Given the description of an element on the screen output the (x, y) to click on. 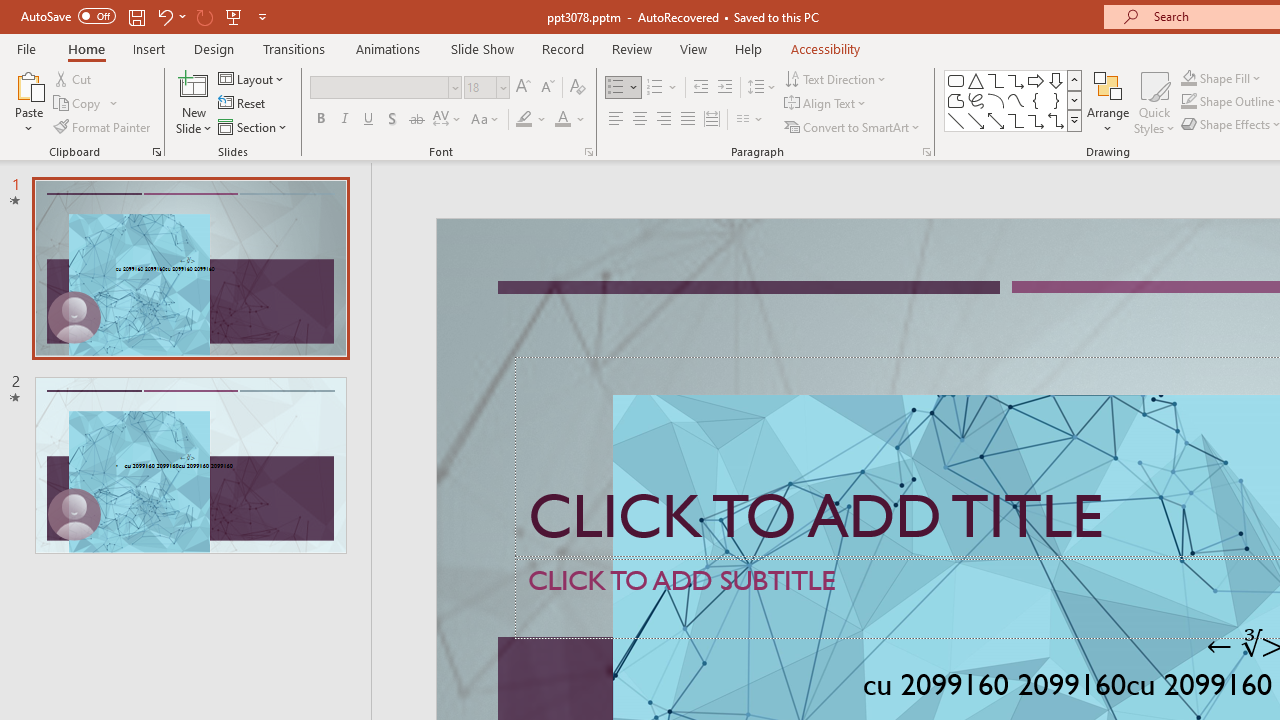
Font... (588, 151)
Columns (750, 119)
Paste (28, 102)
Line (955, 120)
Increase Indent (725, 87)
Isosceles Triangle (975, 80)
Font Size (480, 87)
Rectangle: Rounded Corners (955, 80)
Text Direction (836, 78)
Right Brace (1055, 100)
